Given the description of an element on the screen output the (x, y) to click on. 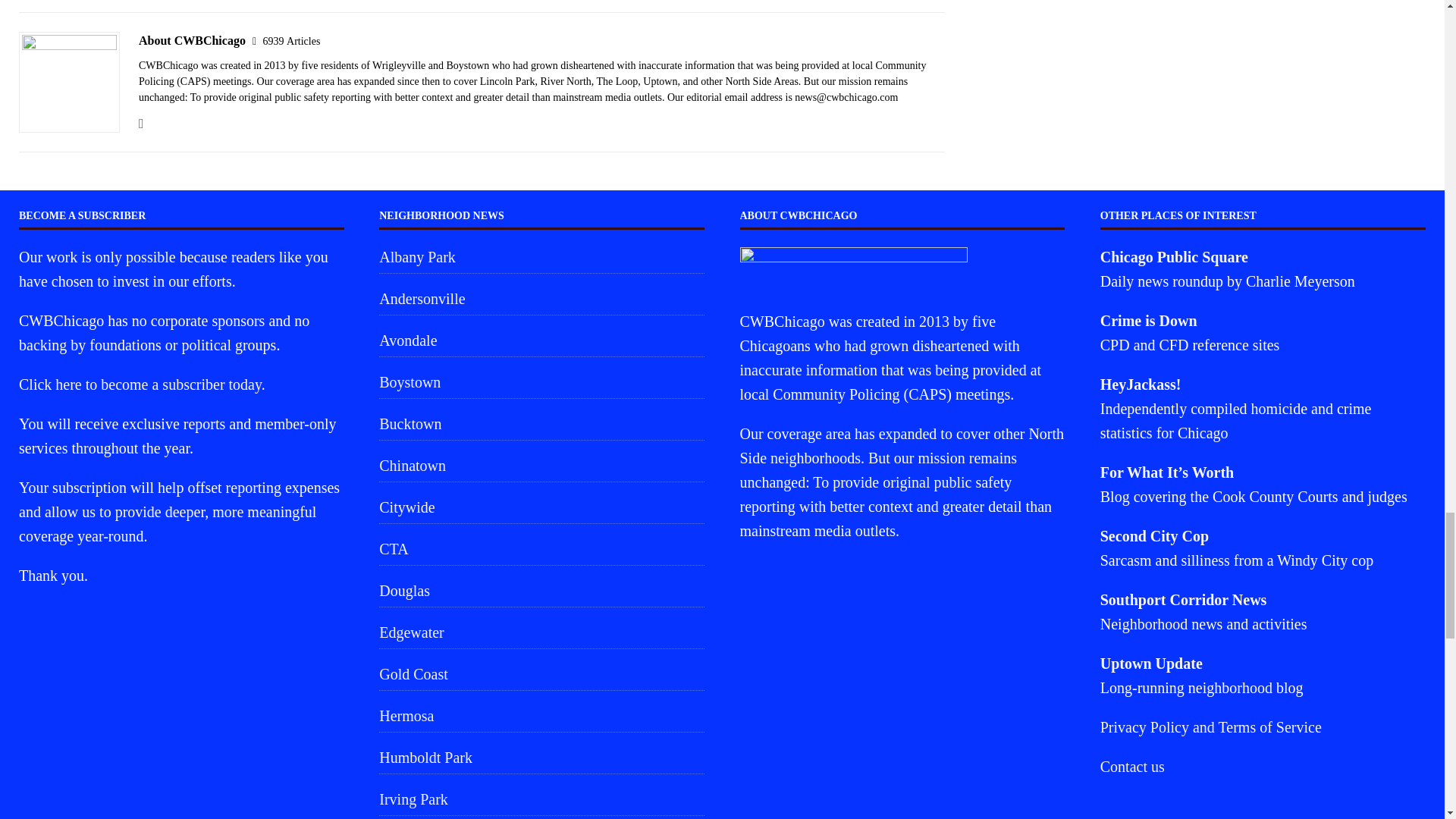
Albany Park (541, 258)
More articles written by CWBChicago' (291, 41)
Andersonville (541, 298)
Bucktown (541, 423)
Chinatown (541, 465)
Boystown (541, 382)
Avondale (541, 340)
6939 Articles (291, 41)
Click here to become a subscriber today. (141, 384)
